Given the description of an element on the screen output the (x, y) to click on. 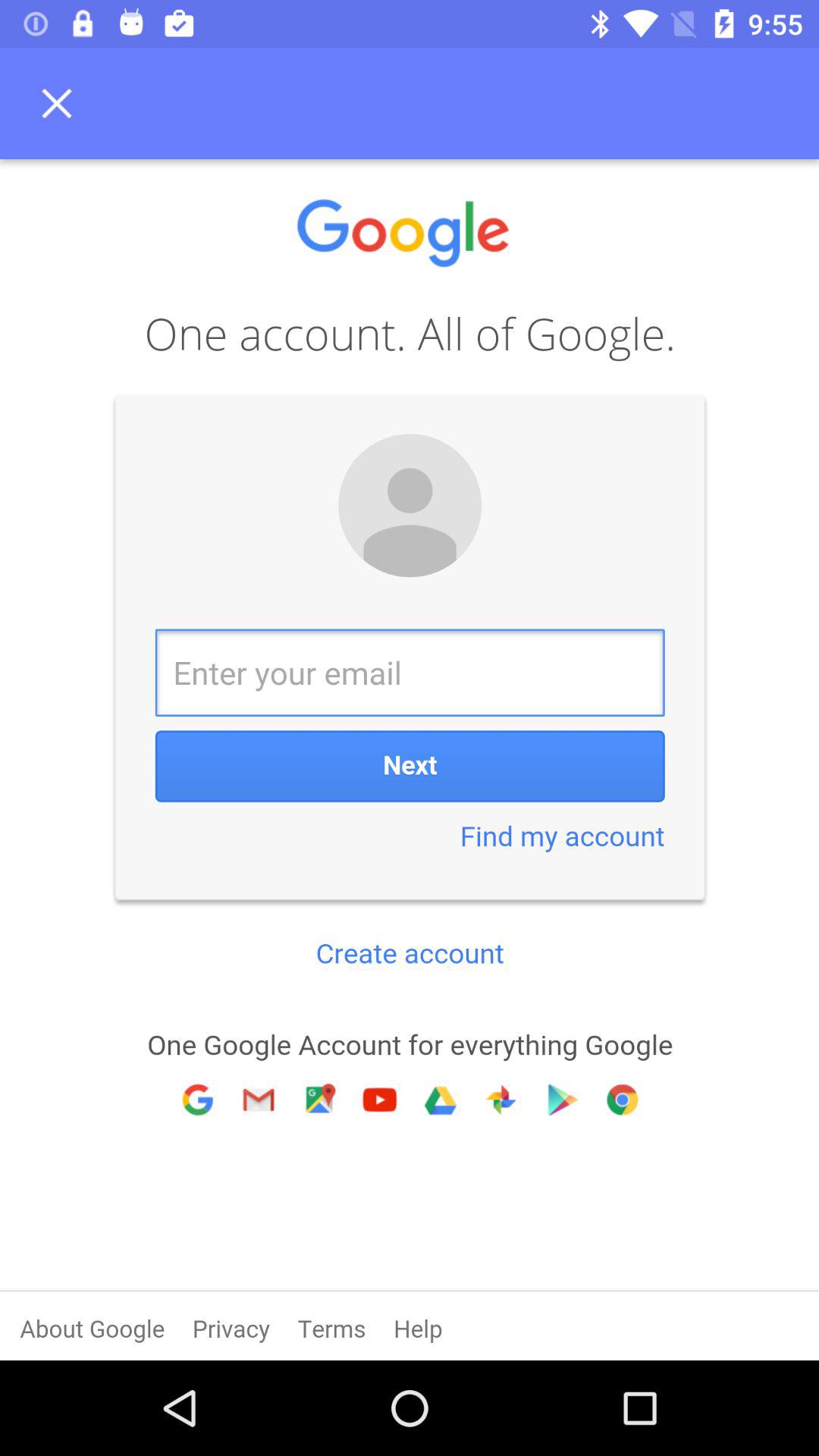
close this page (61, 103)
